Given the description of an element on the screen output the (x, y) to click on. 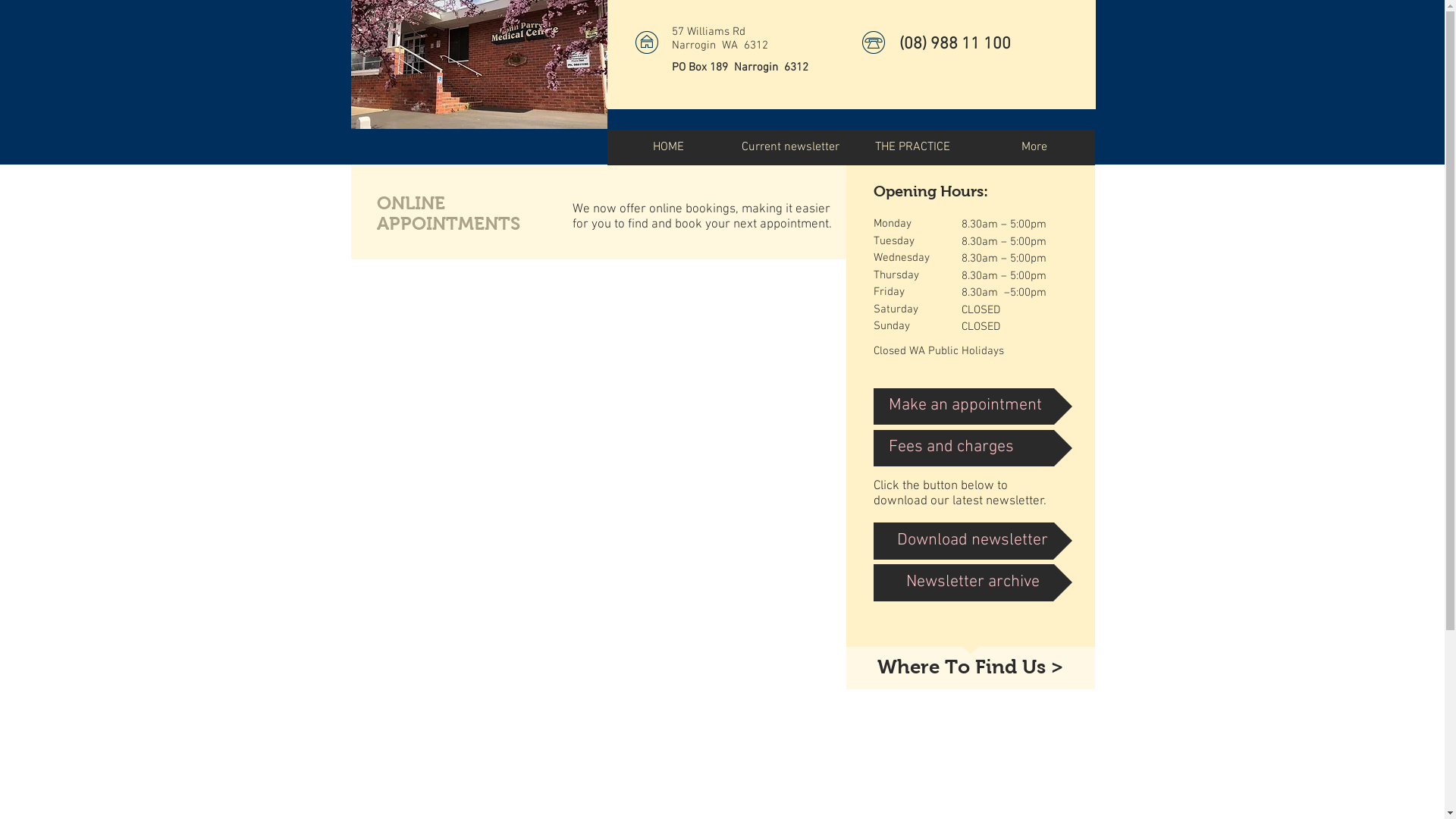
Newsletter archive Element type: text (972, 582)
THE PRACTICE Element type: text (911, 147)
Fees and charges Element type: text (972, 447)
Download newsletter Element type: text (972, 539)
Where To Find Us > Element type: text (970, 666)
Current newsletter Element type: text (790, 147)
HOME Element type: text (667, 147)
Embedded Content Element type: hover (605, 481)
Make an appointment Element type: text (972, 406)
